Given the description of an element on the screen output the (x, y) to click on. 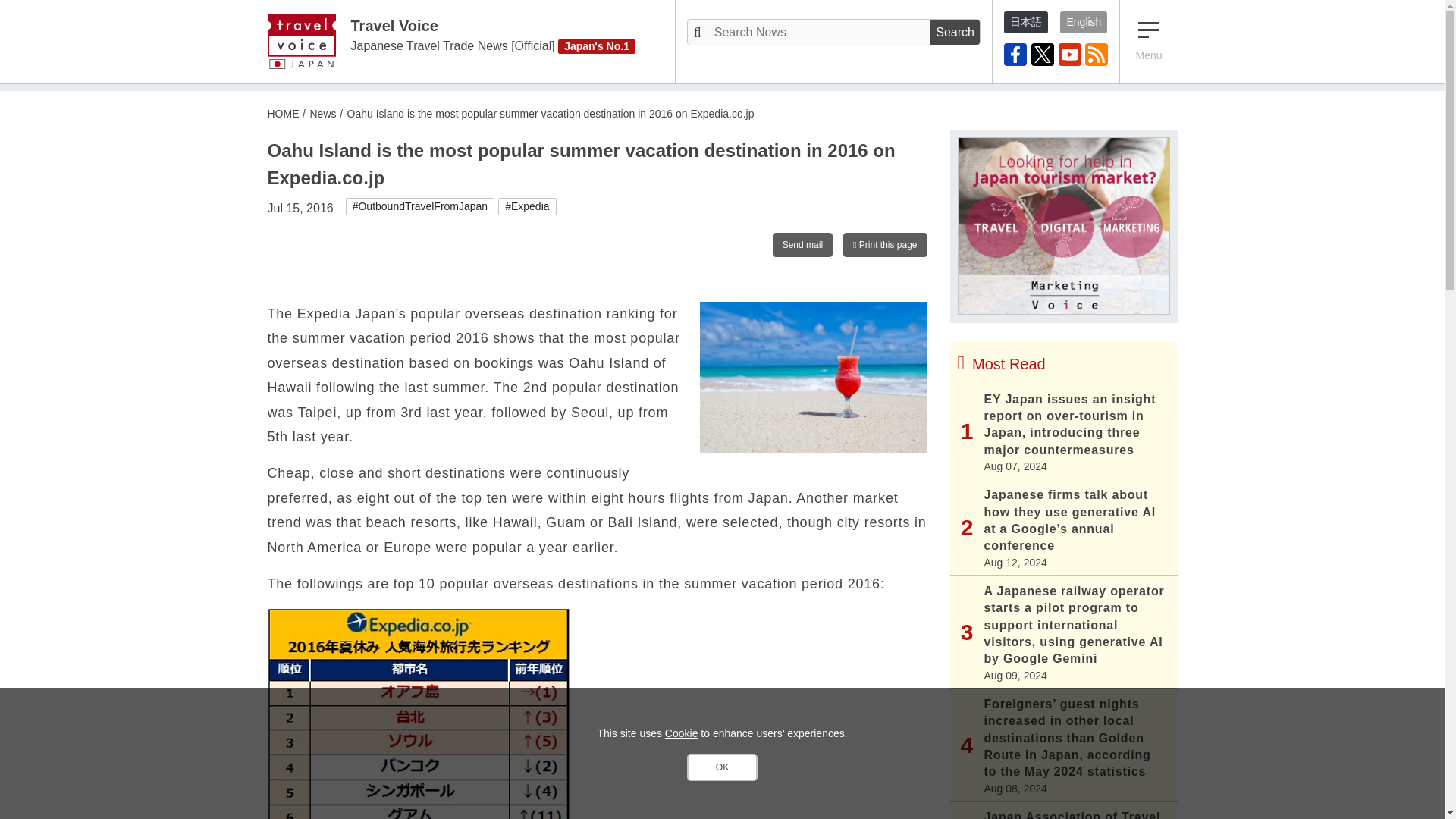
HOME (282, 113)
News (322, 113)
Send mail (802, 244)
English (1082, 22)
Print this page (884, 244)
Search (954, 32)
